Given the description of an element on the screen output the (x, y) to click on. 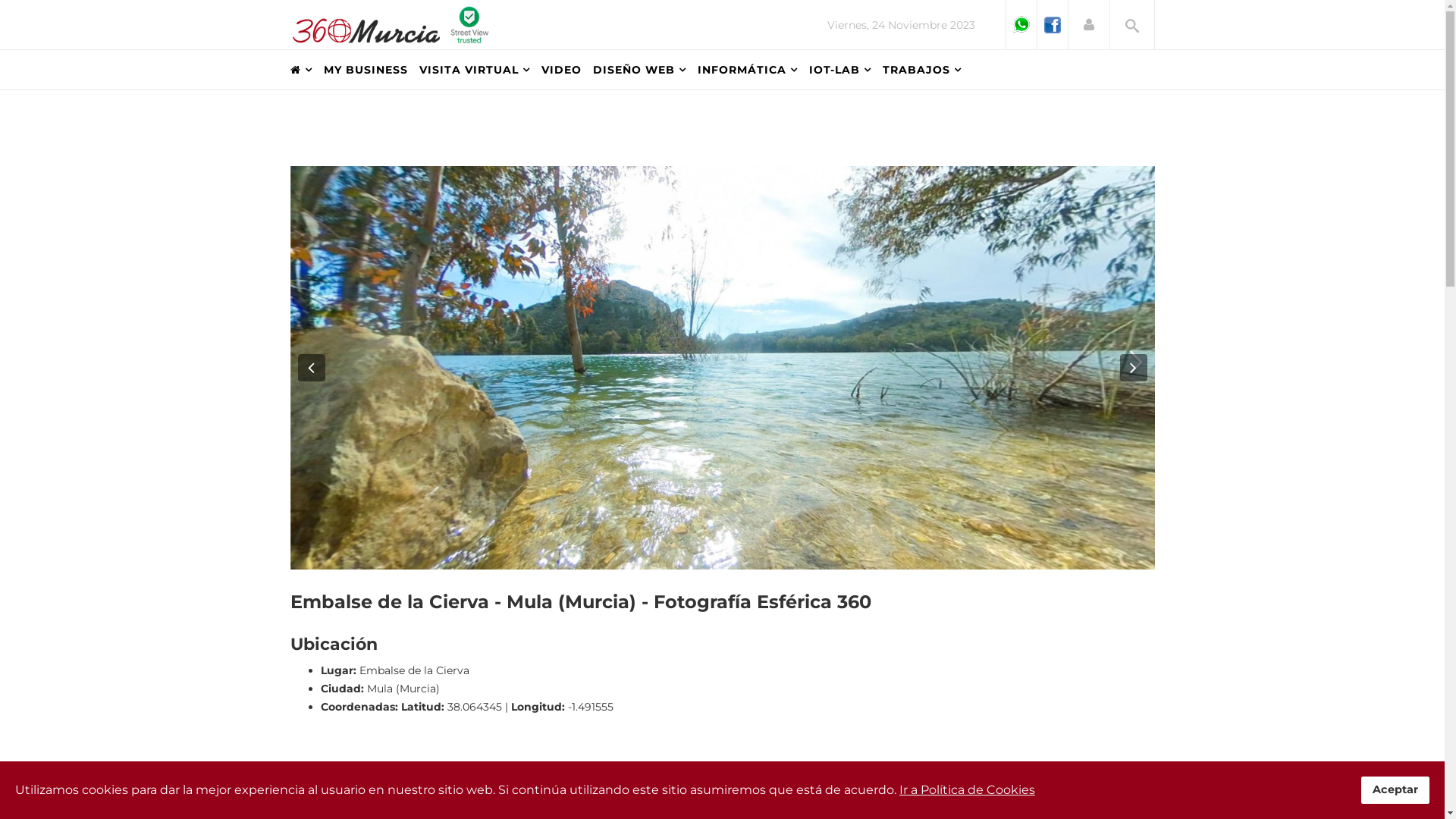
Aceptar Element type: text (1395, 789)
TRABAJOS Element type: text (927, 69)
VIDEO Element type: text (567, 69)
IOT-LAB Element type: text (844, 69)
MY BUSINESS Element type: text (370, 69)
Previous Element type: text (310, 367)
Next Element type: text (1132, 367)
VISITA VIRTUAL Element type: text (479, 69)
